Given the description of an element on the screen output the (x, y) to click on. 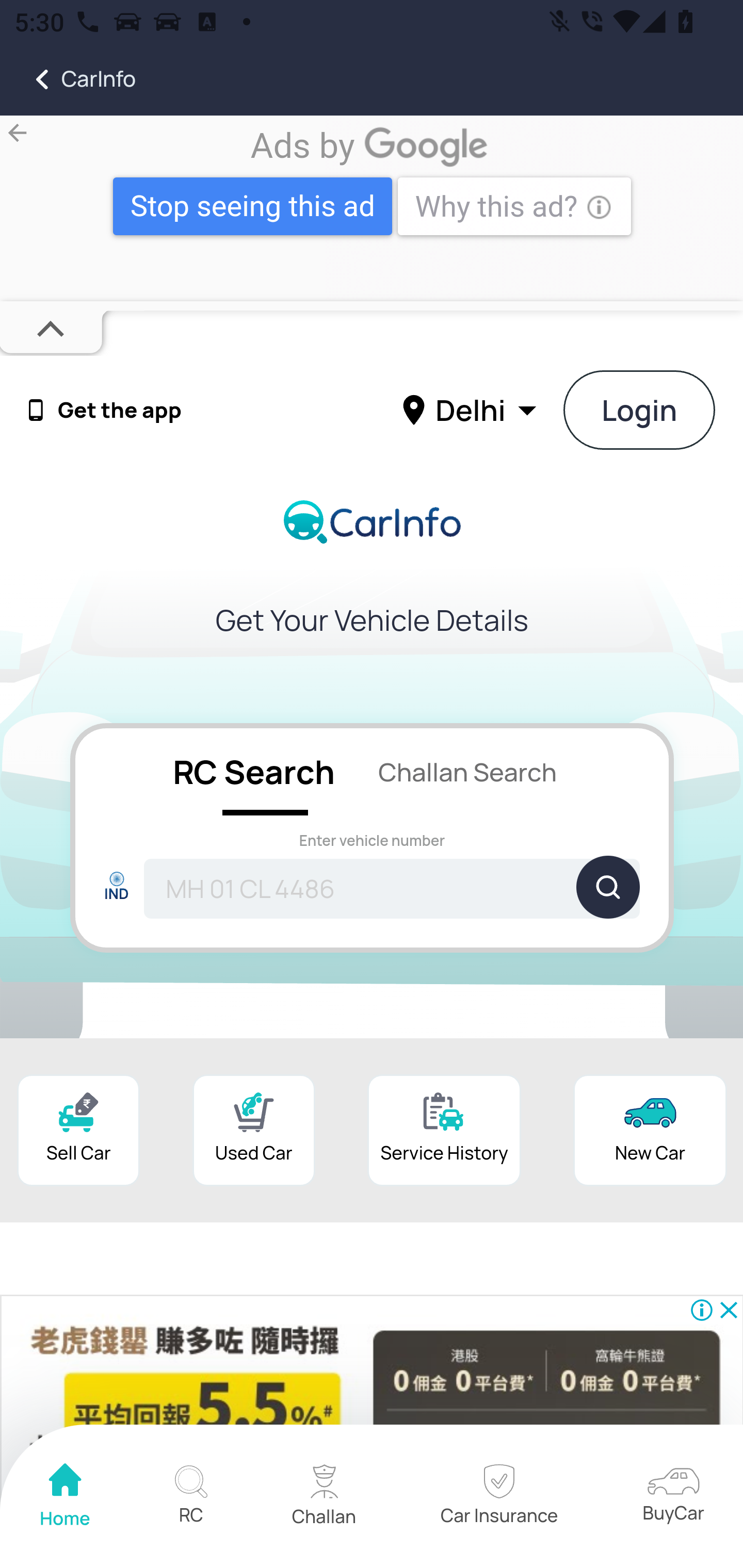
CarInfo (67, 79)
Login (639, 409)
Delhi (471, 408)
Get the app (119, 410)
RC Search (253, 771)
Challan Search (467, 771)
sell car Sell Car (77, 1129)
 CarInfo Used Car Used Car (253, 1129)
carInfo service history Service History (444, 1129)
new car New Car new car New Car (649, 1129)
home (65, 1496)
home Challan home Challan (323, 1496)
home RC home RC (190, 1496)
home Car Insurance home Car Insurance (498, 1497)
home BuyCar home BuyCar (672, 1496)
